Given the description of an element on the screen output the (x, y) to click on. 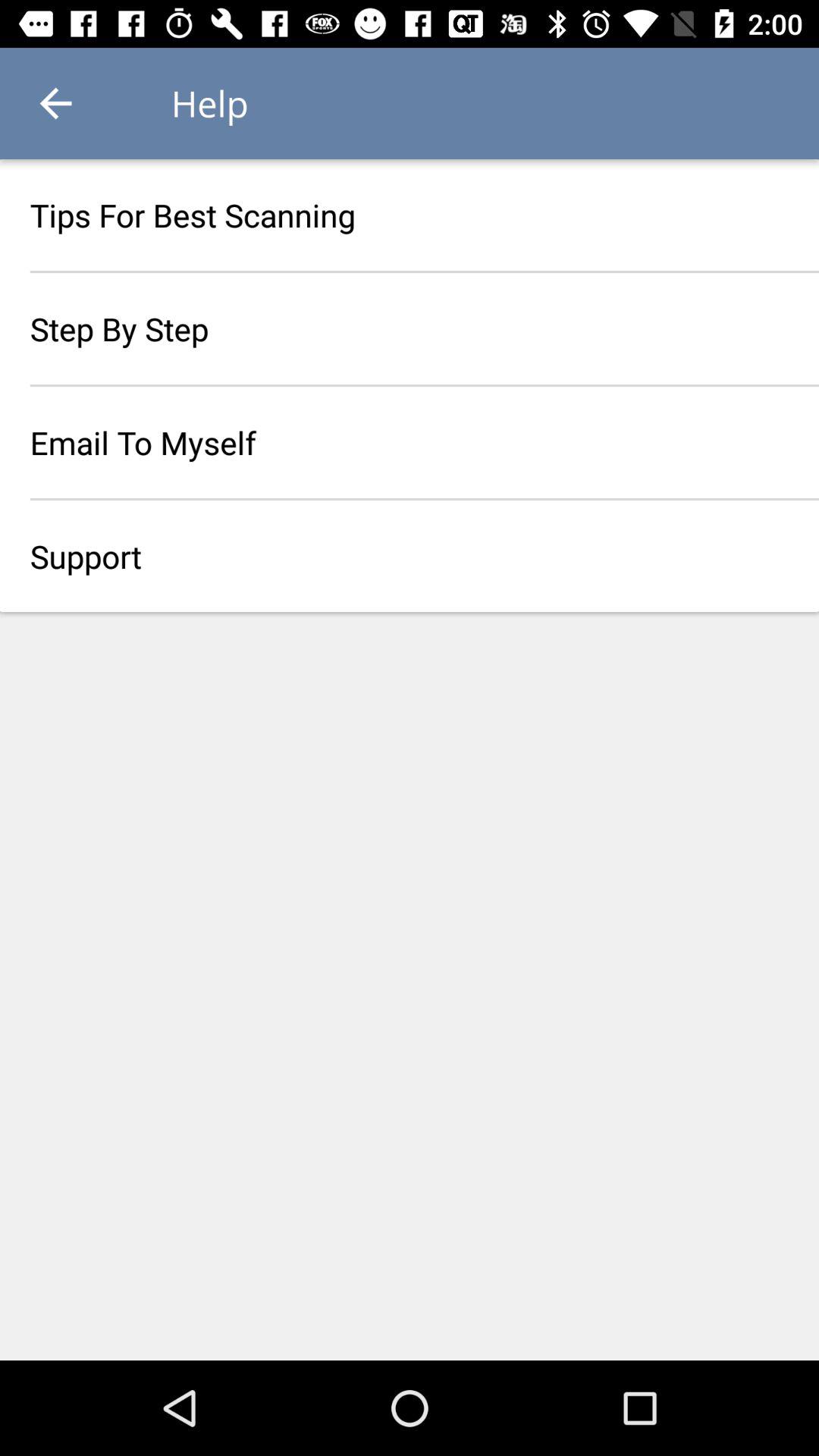
tap support (409, 555)
